Given the description of an element on the screen output the (x, y) to click on. 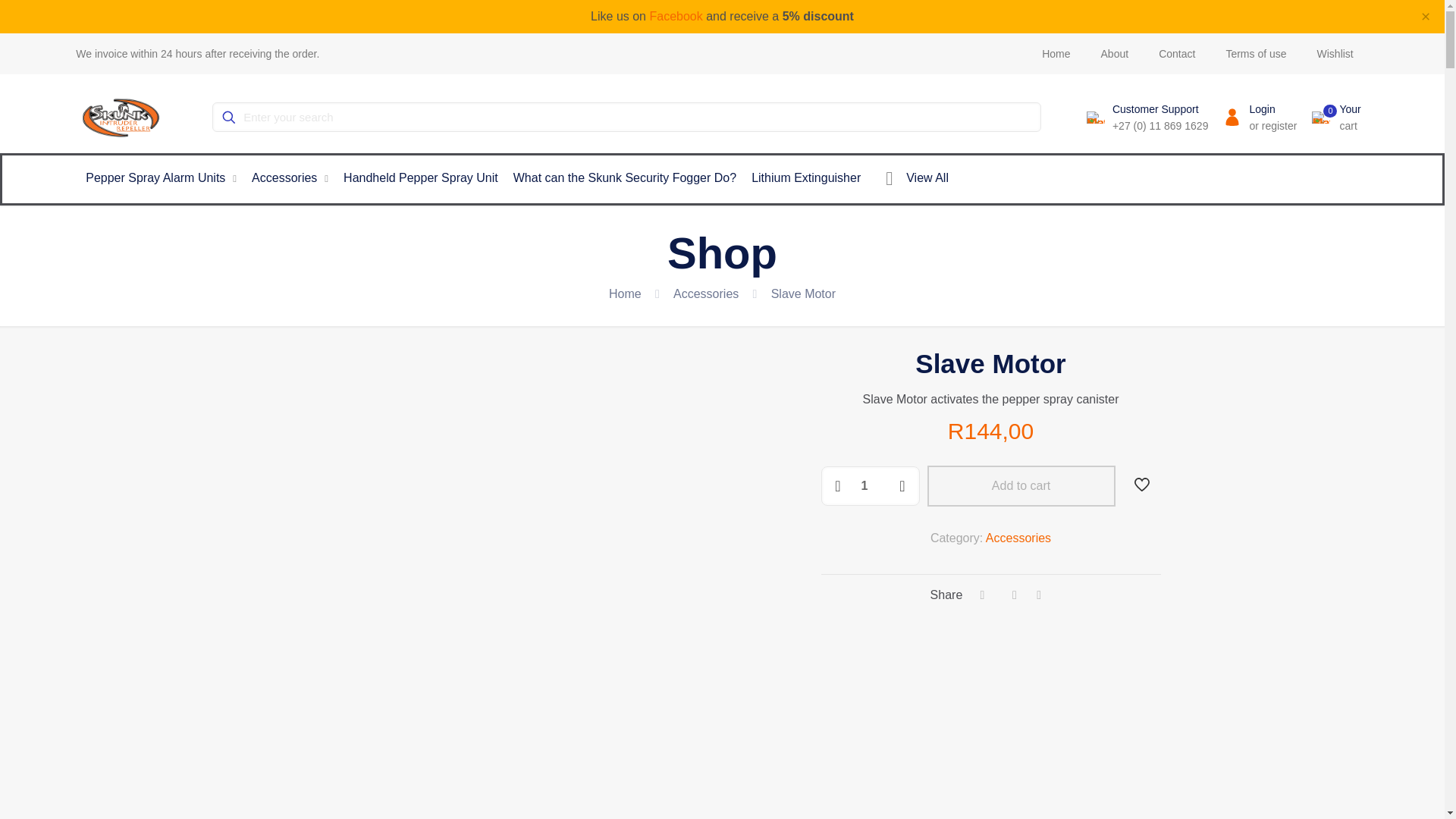
1 (869, 486)
Home (1055, 53)
Contact (1175, 53)
About (1115, 53)
Terms of use (1255, 53)
Wishlist (1334, 53)
Facebook (675, 15)
